Given the description of an element on the screen output the (x, y) to click on. 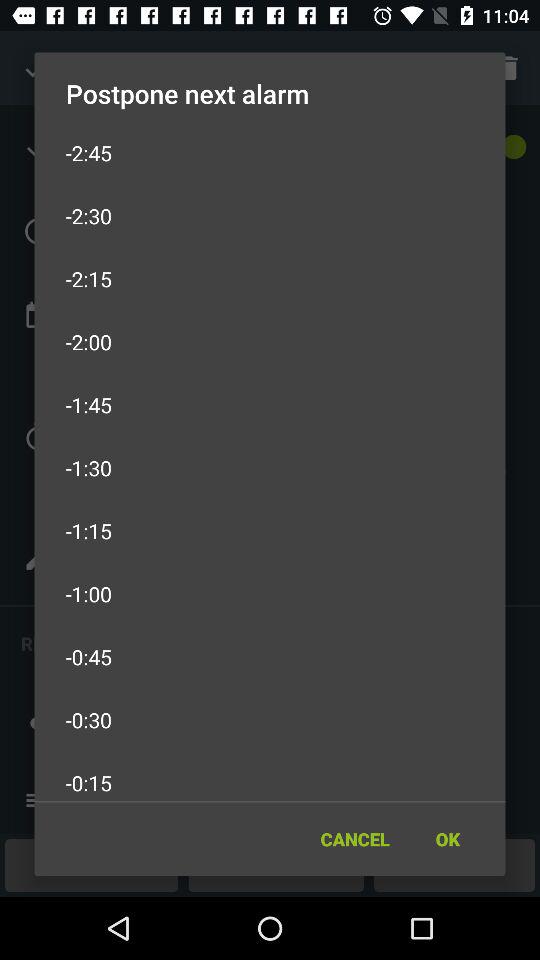
turn on icon below -0:15  icon (354, 838)
